Given the description of an element on the screen output the (x, y) to click on. 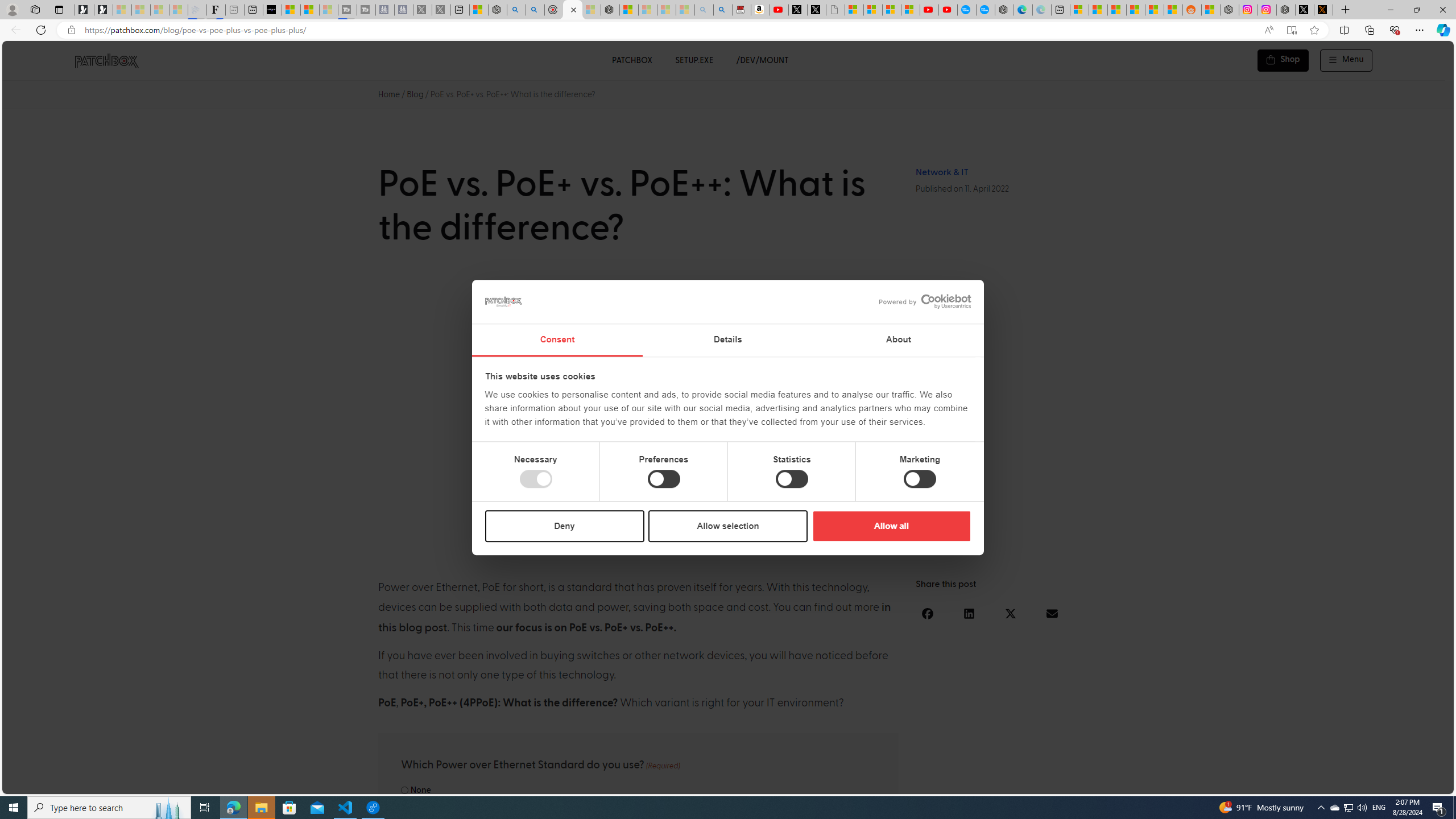
Share on linkedin (968, 613)
Language switcher : Czech (1413, 782)
Day 1: Arriving in Yemen (surreal to be here) - YouTube (778, 9)
Language switcher : Slovak (1345, 782)
Home (389, 94)
Language switcher : Polish (1300, 782)
Marketing (920, 479)
